Given the description of an element on the screen output the (x, y) to click on. 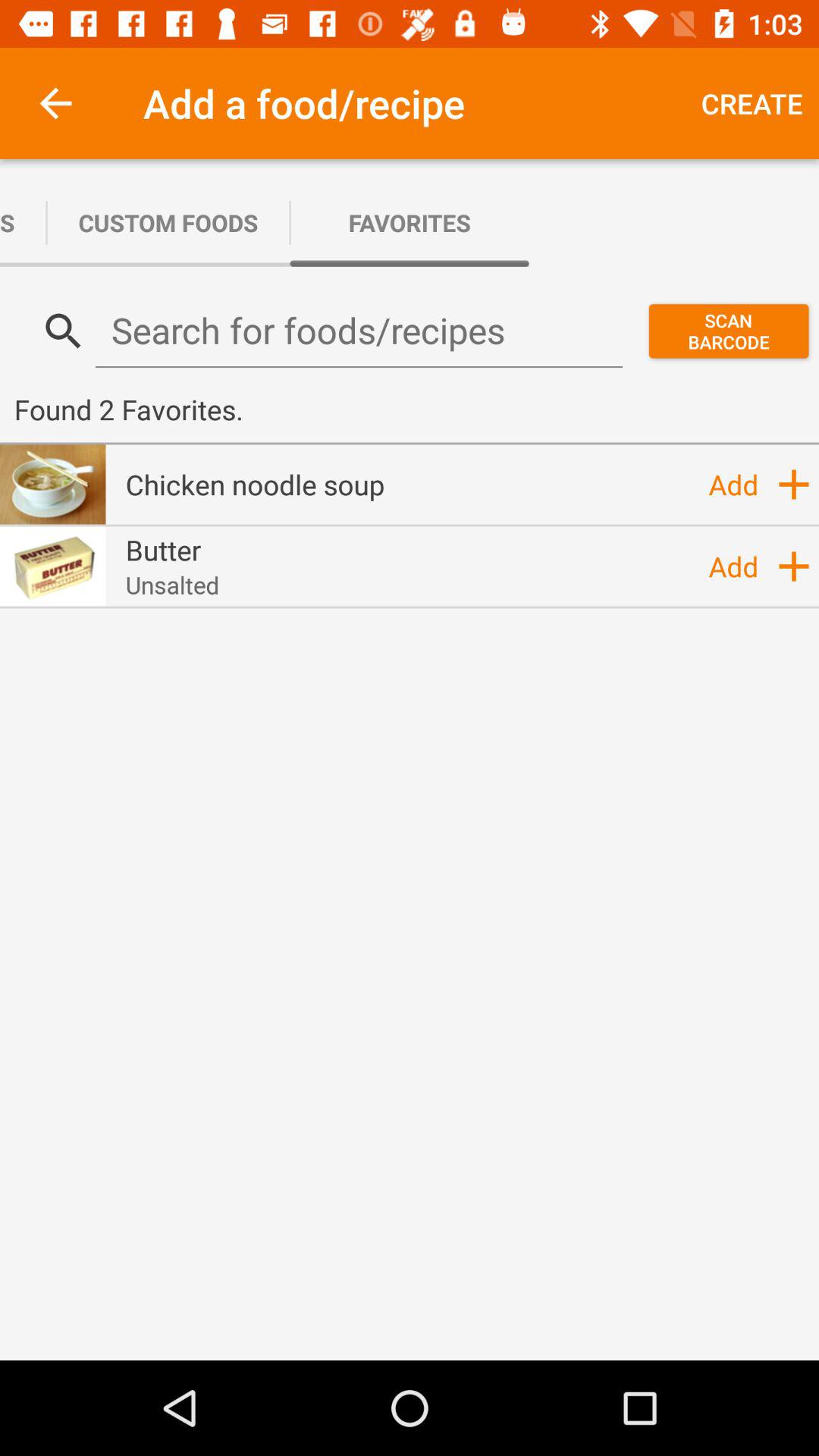
tap the item above the found 2 favorites. icon (728, 331)
